Given the description of an element on the screen output the (x, y) to click on. 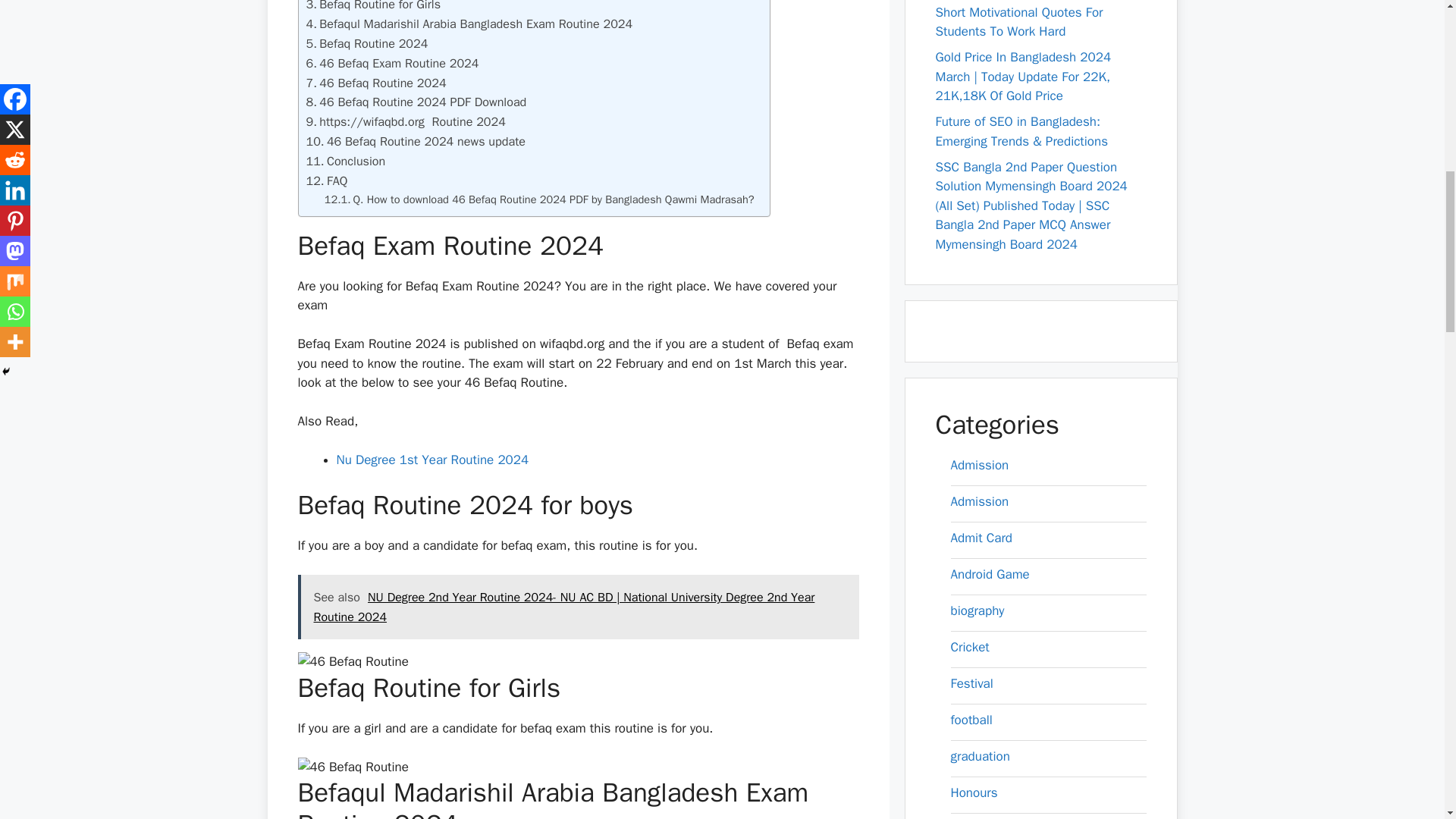
Befaqul Madarishil Arabia Bangladesh Exam Routine 2024 (469, 24)
Befaqul Madarishil Arabia Bangladesh Exam Routine 2024 (469, 24)
Conclusion (345, 161)
46 Befaq Exam Routine 2024 (392, 63)
46 Befaq Routine 2024 (375, 82)
46 Befaq Routine 2024 PDF Download (416, 102)
Befaq Routine for Girls (373, 7)
46 Befaq Routine 2024 news update (415, 141)
Befaq Routine for Girls (373, 7)
Conclusion (345, 161)
46 Befaq Exam Routine 2024 (392, 63)
Befaq Routine 2024 (366, 44)
Befaq Routine 2024 (366, 44)
FAQ (326, 180)
